Given the description of an element on the screen output the (x, y) to click on. 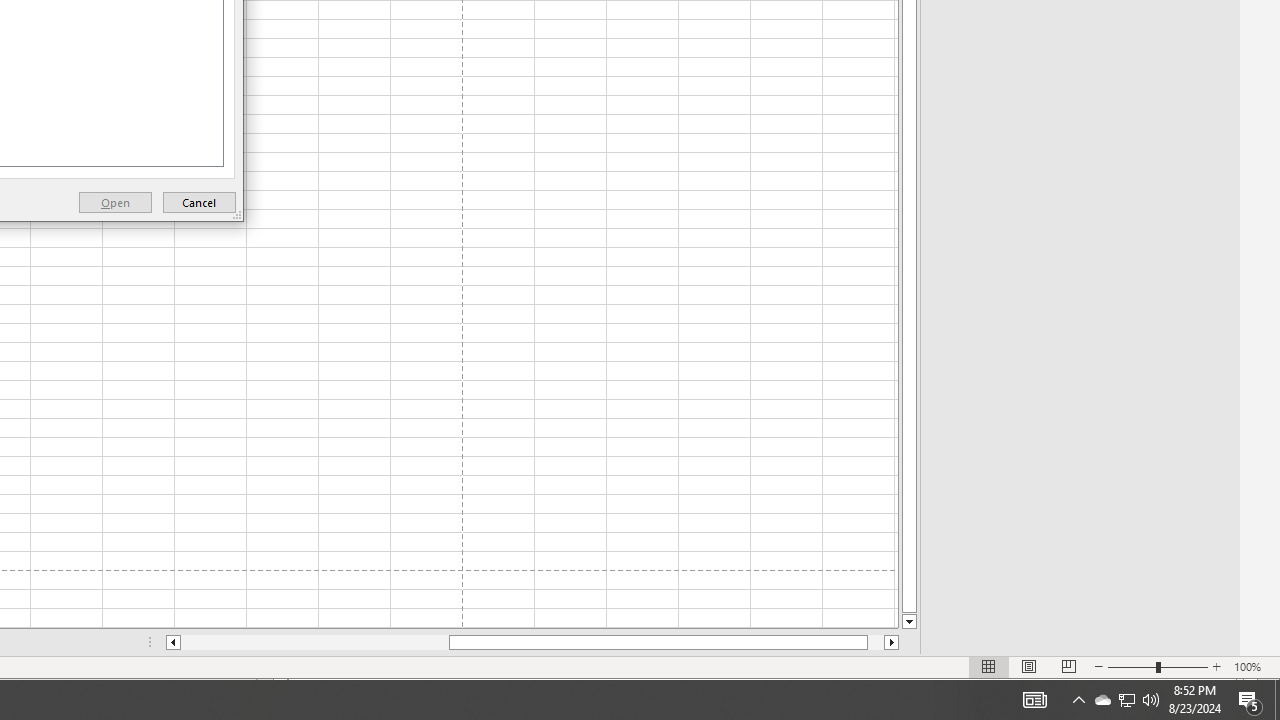
AutomationID: 4105 (1034, 699)
